Given the description of an element on the screen output the (x, y) to click on. 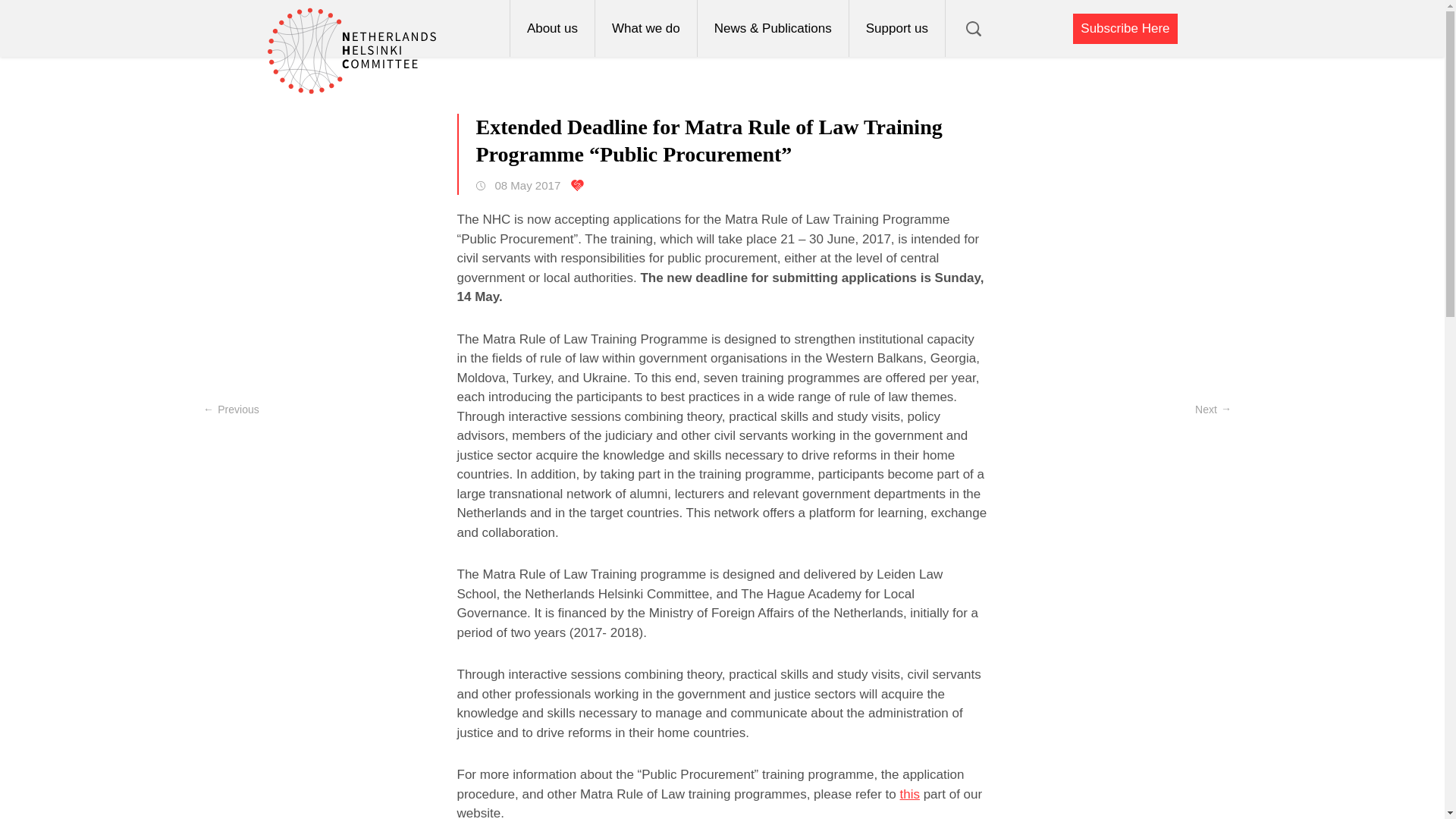
Previous (231, 409)
Next (1213, 409)
What we do (645, 28)
About us (551, 28)
Support us (896, 28)
this (908, 794)
Subscribe Here (1124, 28)
